Given the description of an element on the screen output the (x, y) to click on. 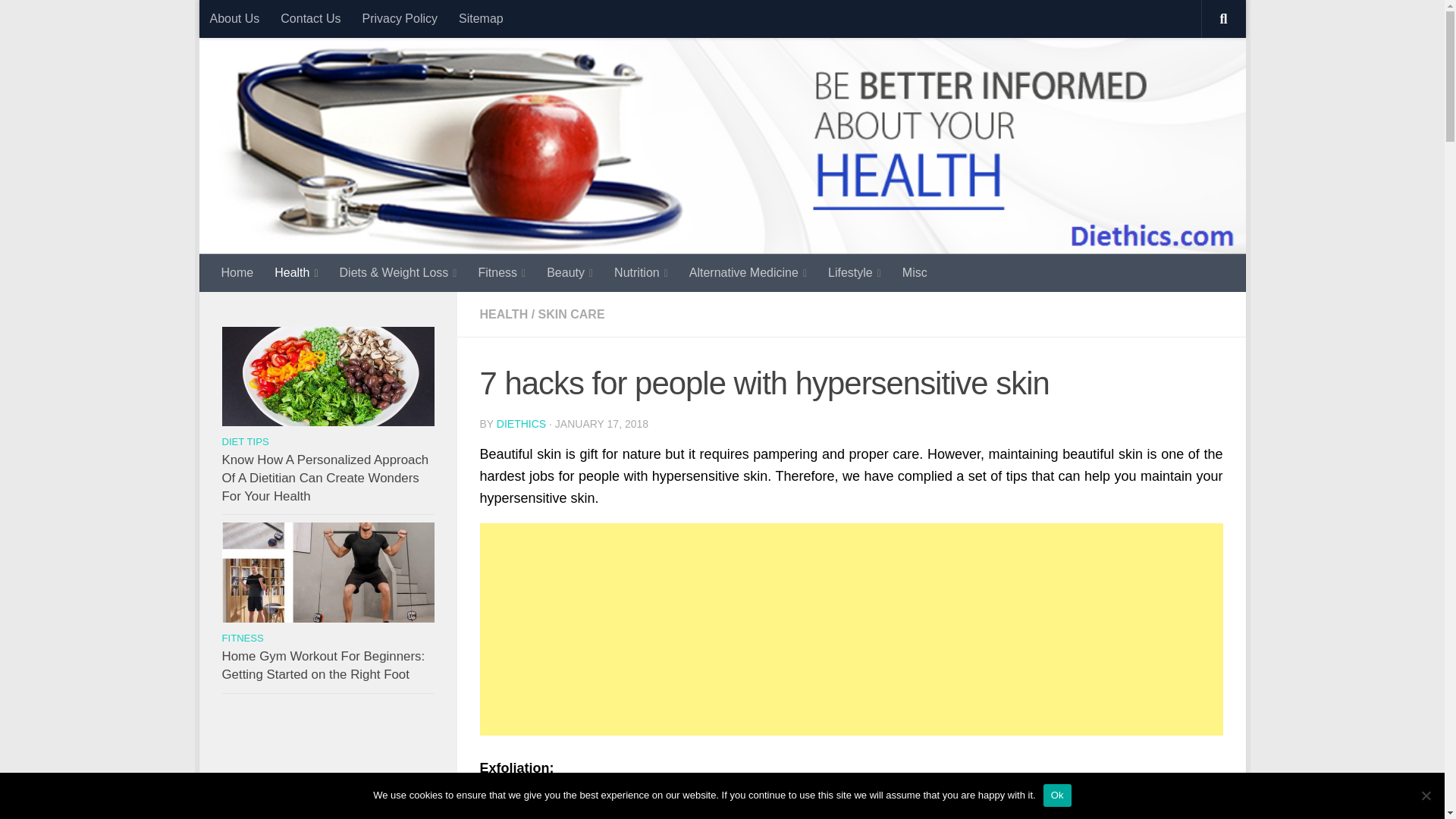
Skip to content (263, 20)
